Given the description of an element on the screen output the (x, y) to click on. 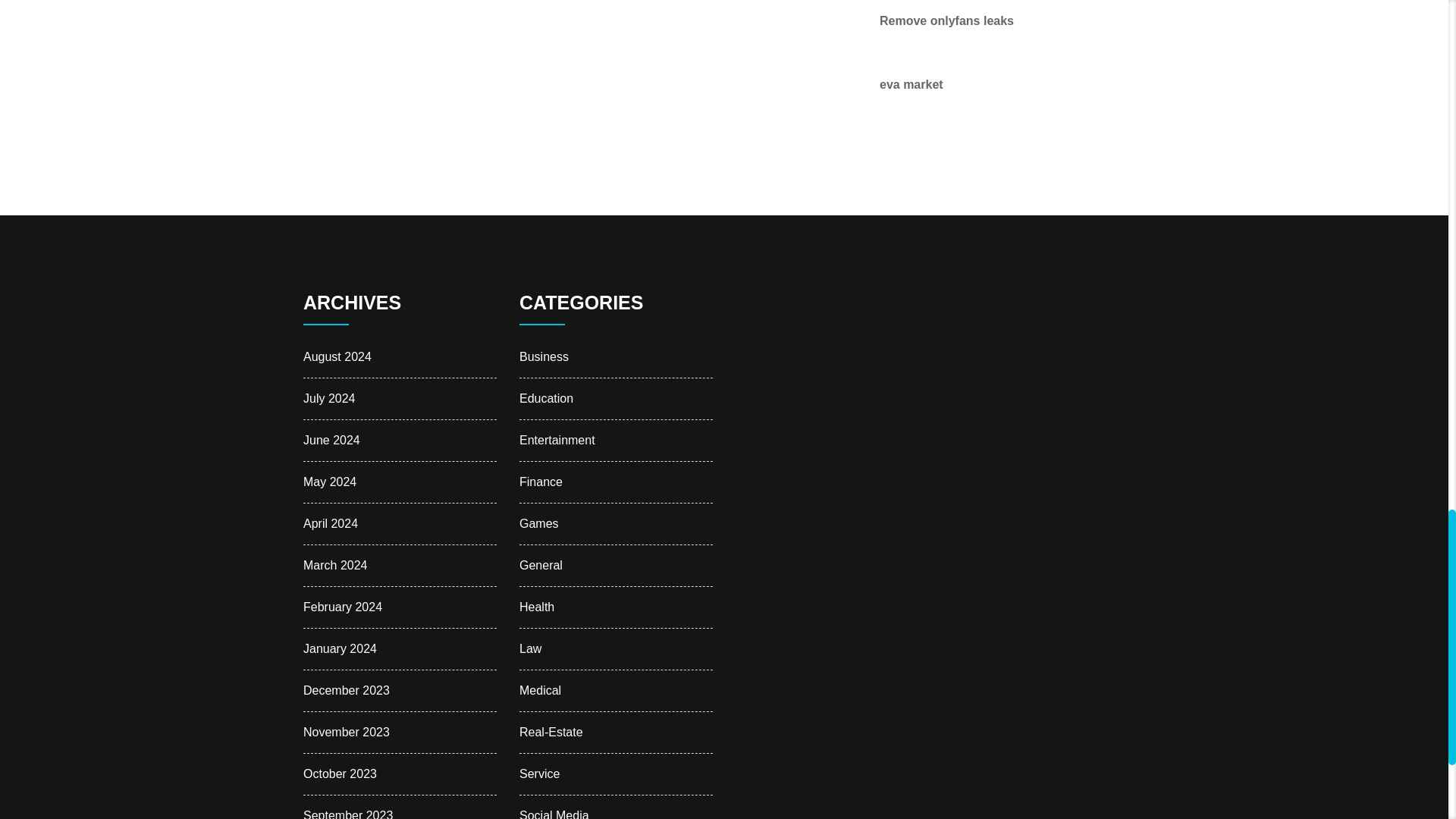
Remove onlyfans leaks (946, 20)
August 2024 (336, 356)
eva market (911, 83)
